Given the description of an element on the screen output the (x, y) to click on. 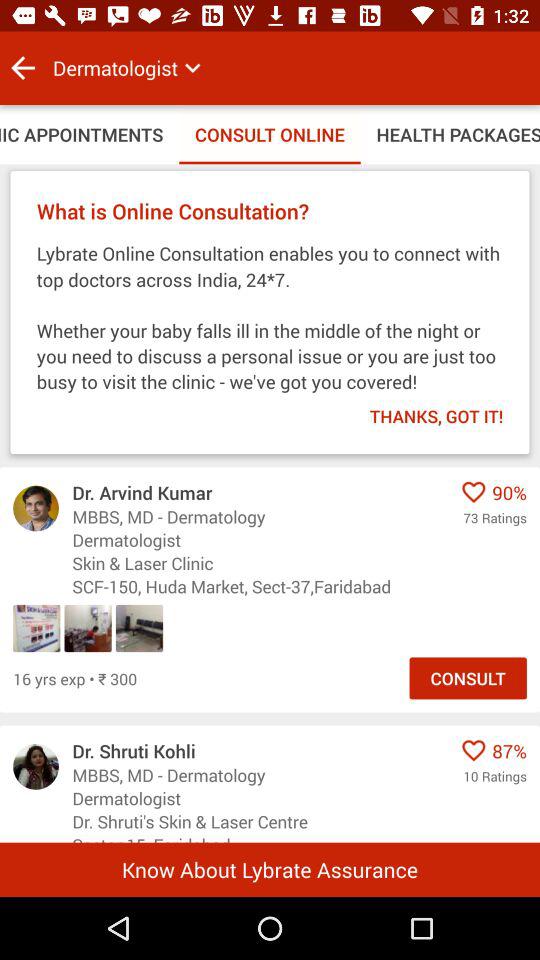
open the know about lybrate item (270, 869)
